Given the description of an element on the screen output the (x, y) to click on. 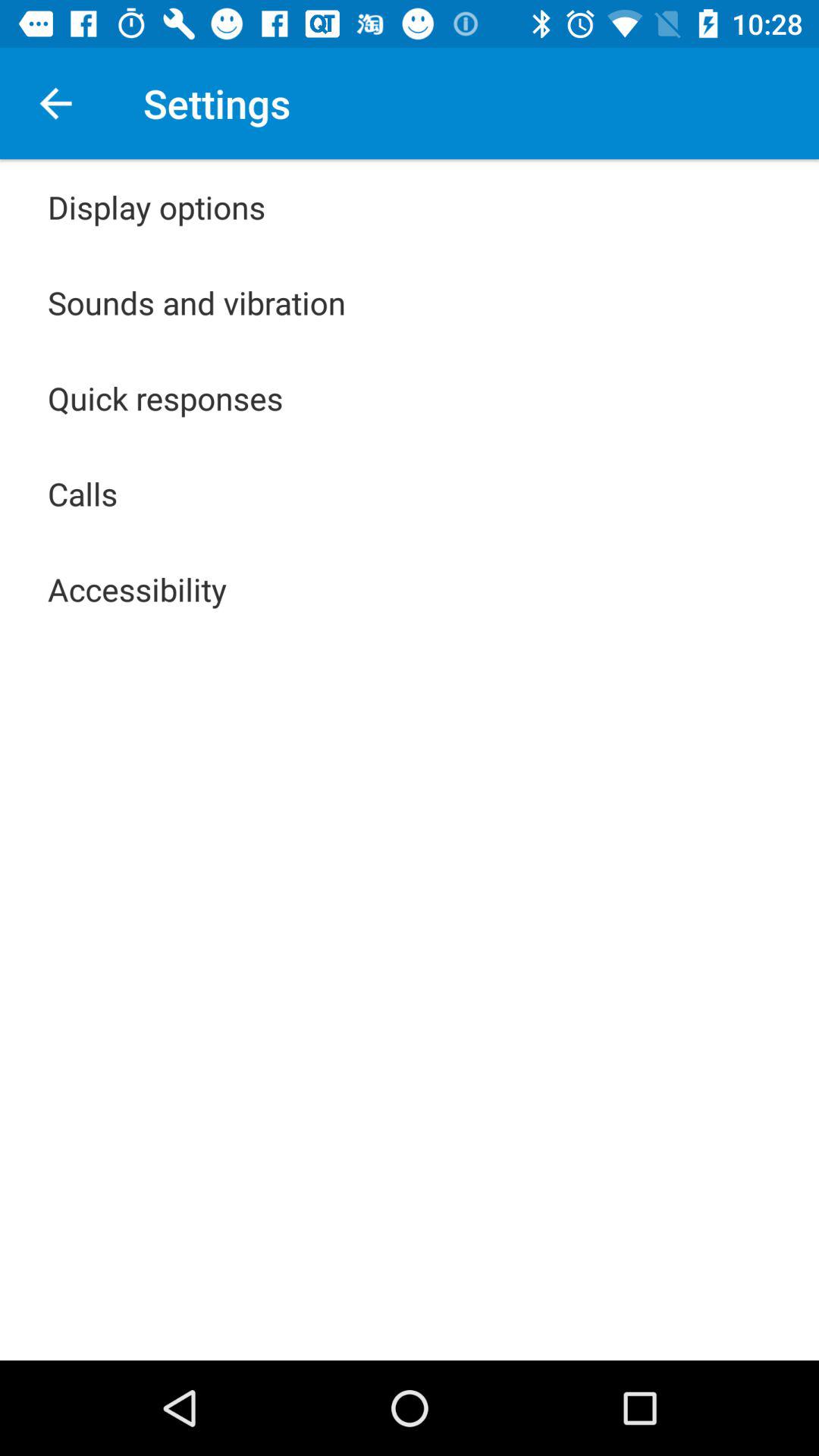
tap display options app (156, 206)
